Given the description of an element on the screen output the (x, y) to click on. 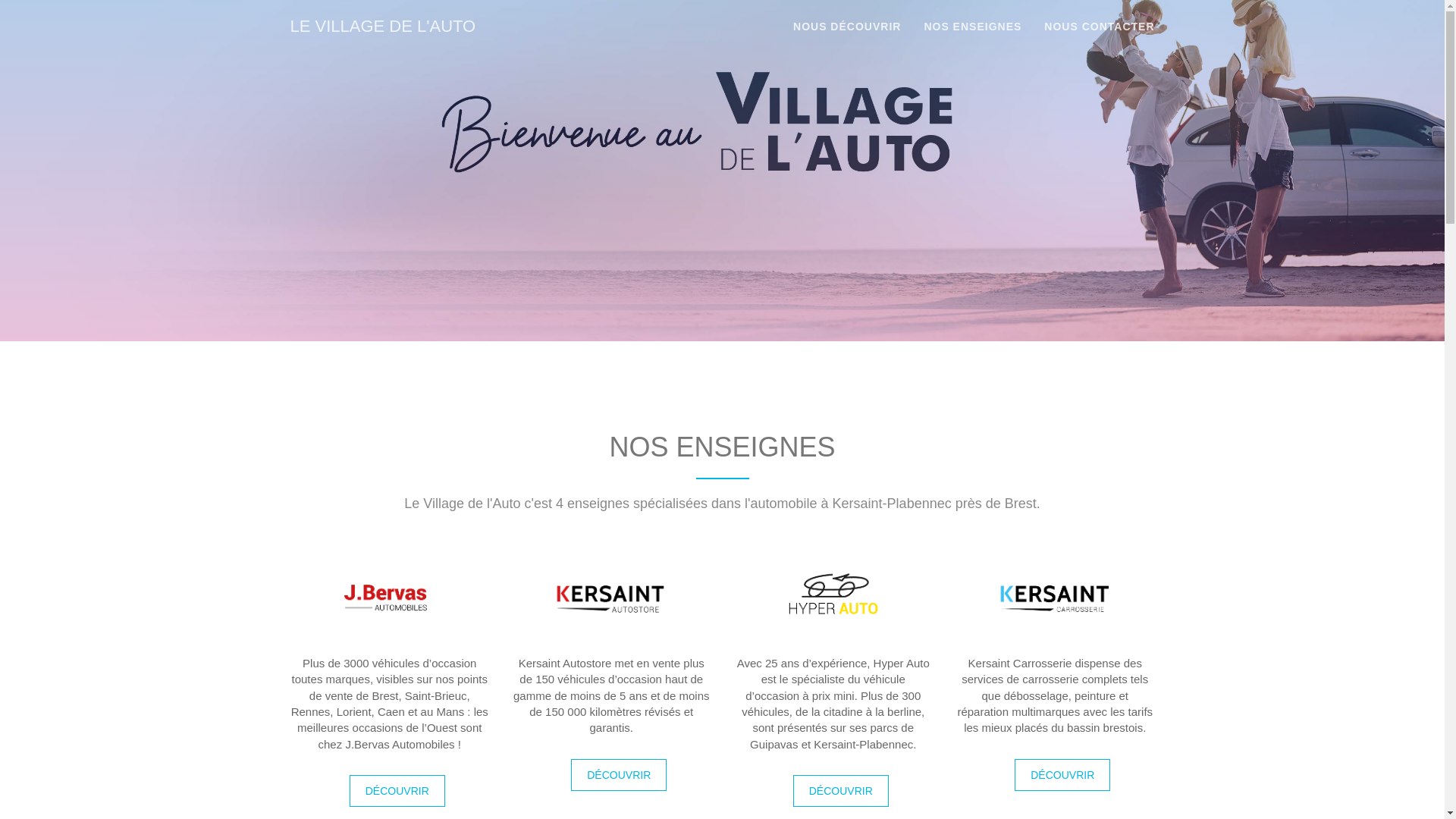
LE VILLAGE DE L'AUTO Element type: text (383, 26)
NOS ENSEIGNES Element type: text (972, 26)
NOUS CONTACTER Element type: text (1098, 26)
